Given the description of an element on the screen output the (x, y) to click on. 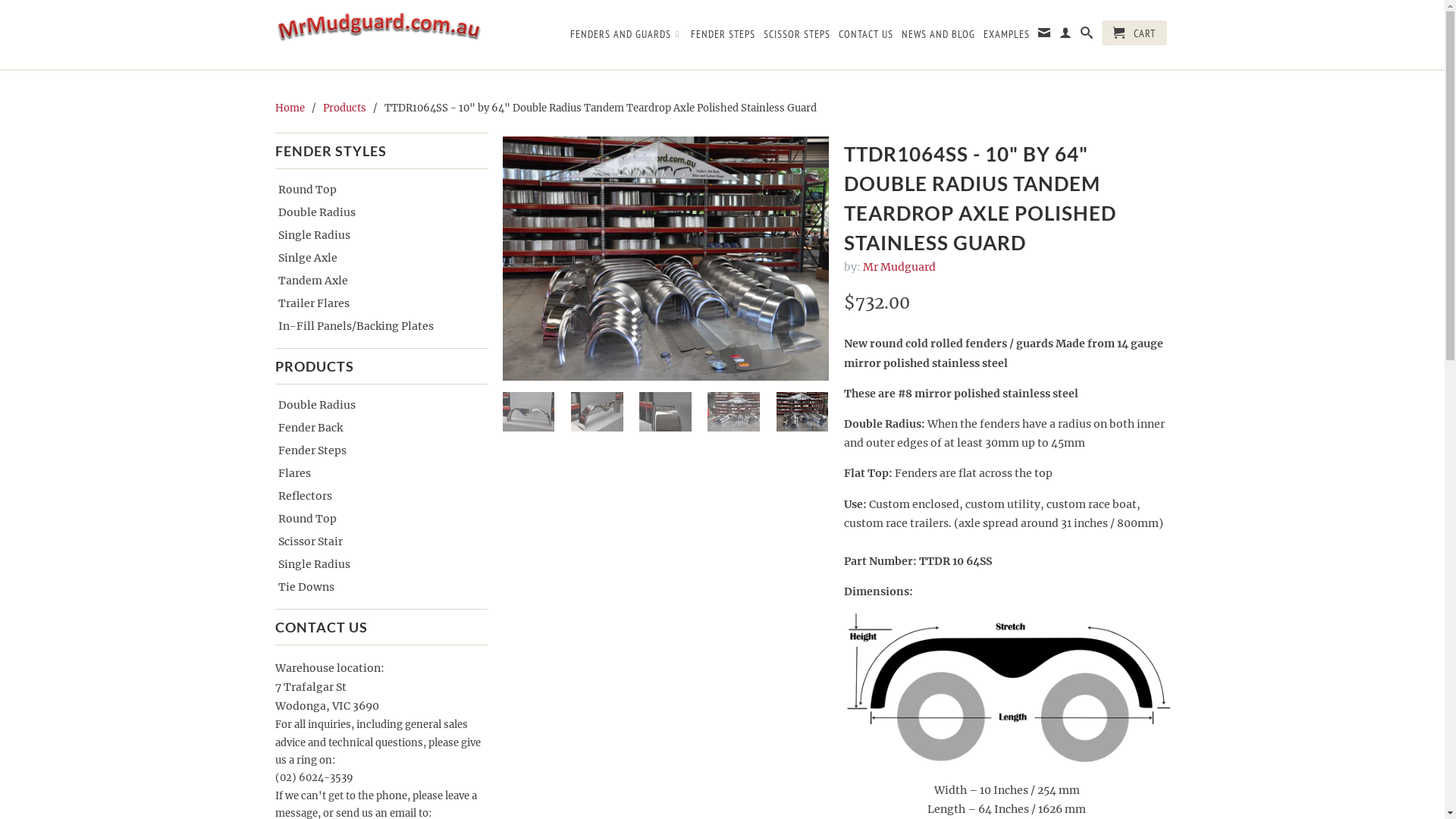
Double Radius Element type: text (374, 212)
Scissor Stair Element type: text (374, 541)
Single Radius Element type: text (374, 234)
Home Element type: text (289, 107)
Round Top Element type: text (374, 189)
Products Element type: text (344, 107)
Sinlge Axle Element type: text (374, 257)
Reflectors Element type: text (374, 495)
CART Element type: text (1133, 32)
CONTACT US Element type: text (865, 37)
Tie Downs Element type: text (374, 586)
Trailer Flares Element type: text (374, 303)
Search Element type: hover (1085, 35)
Mr Mudguard Element type: text (898, 266)
Mr Mudguard Element type: hover (380, 34)
My Account  Element type: hover (1064, 35)
Fender Back Element type: text (374, 427)
Round Top Element type: text (374, 518)
EXAMPLES Element type: text (1005, 37)
Email Mr Mudguard Element type: hover (1043, 35)
SCISSOR STEPS Element type: text (795, 37)
FENDER STEPS Element type: text (722, 37)
In-Fill Panels/Backing Plates Element type: text (374, 325)
Double Radius Element type: text (374, 404)
Flares Element type: text (374, 473)
Tandem Axle Element type: text (374, 280)
NEWS AND BLOG Element type: text (937, 37)
Single Radius Element type: text (374, 564)
Fender Steps Element type: text (374, 450)
